Given the description of an element on the screen output the (x, y) to click on. 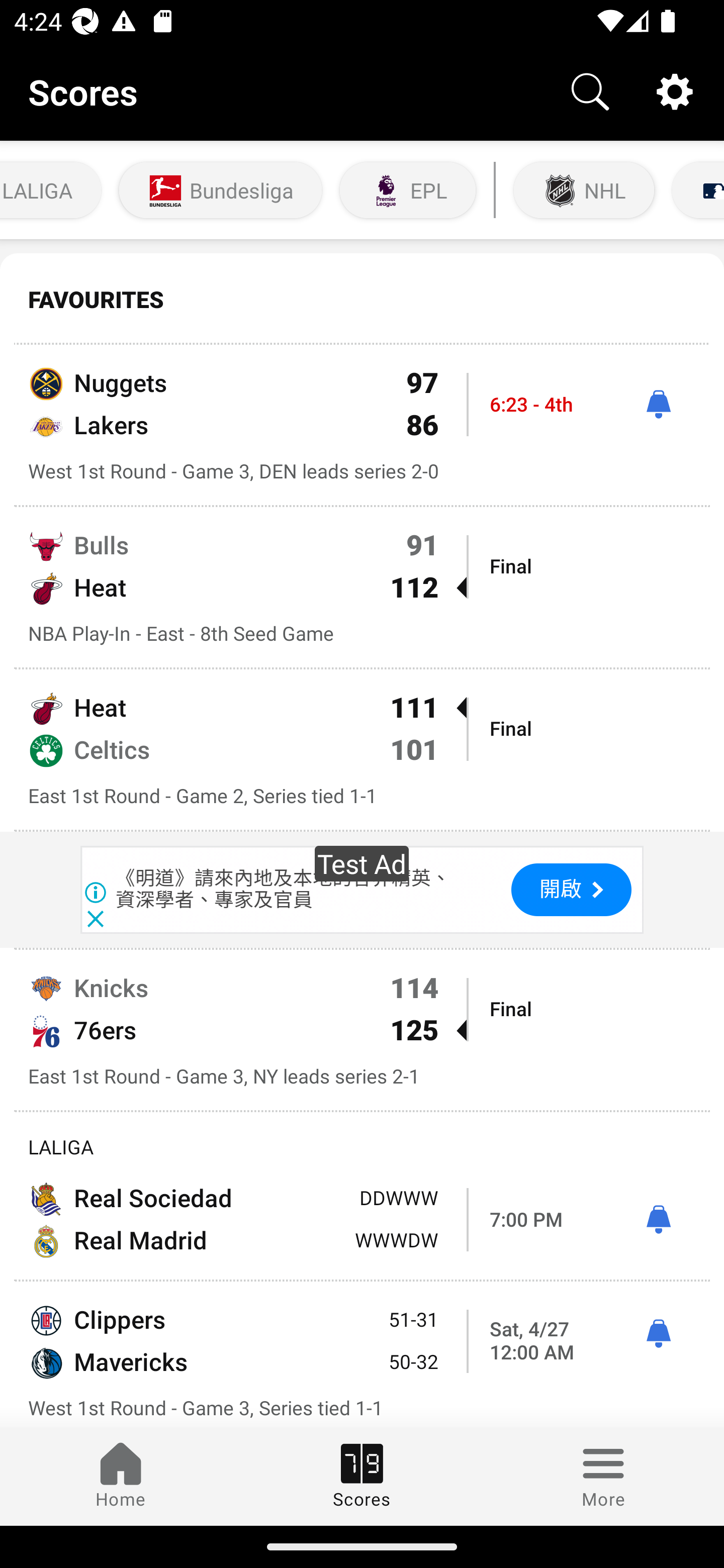
Search (590, 90)
Settings (674, 90)
Bundesliga (220, 190)
EPL (407, 190)
NHL (583, 190)
FAVOURITES (362, 299)
ì (658, 404)
開啟 (570, 889)
ì (658, 1219)
ì (658, 1334)
Home (120, 1475)
More (603, 1475)
